Given the description of an element on the screen output the (x, y) to click on. 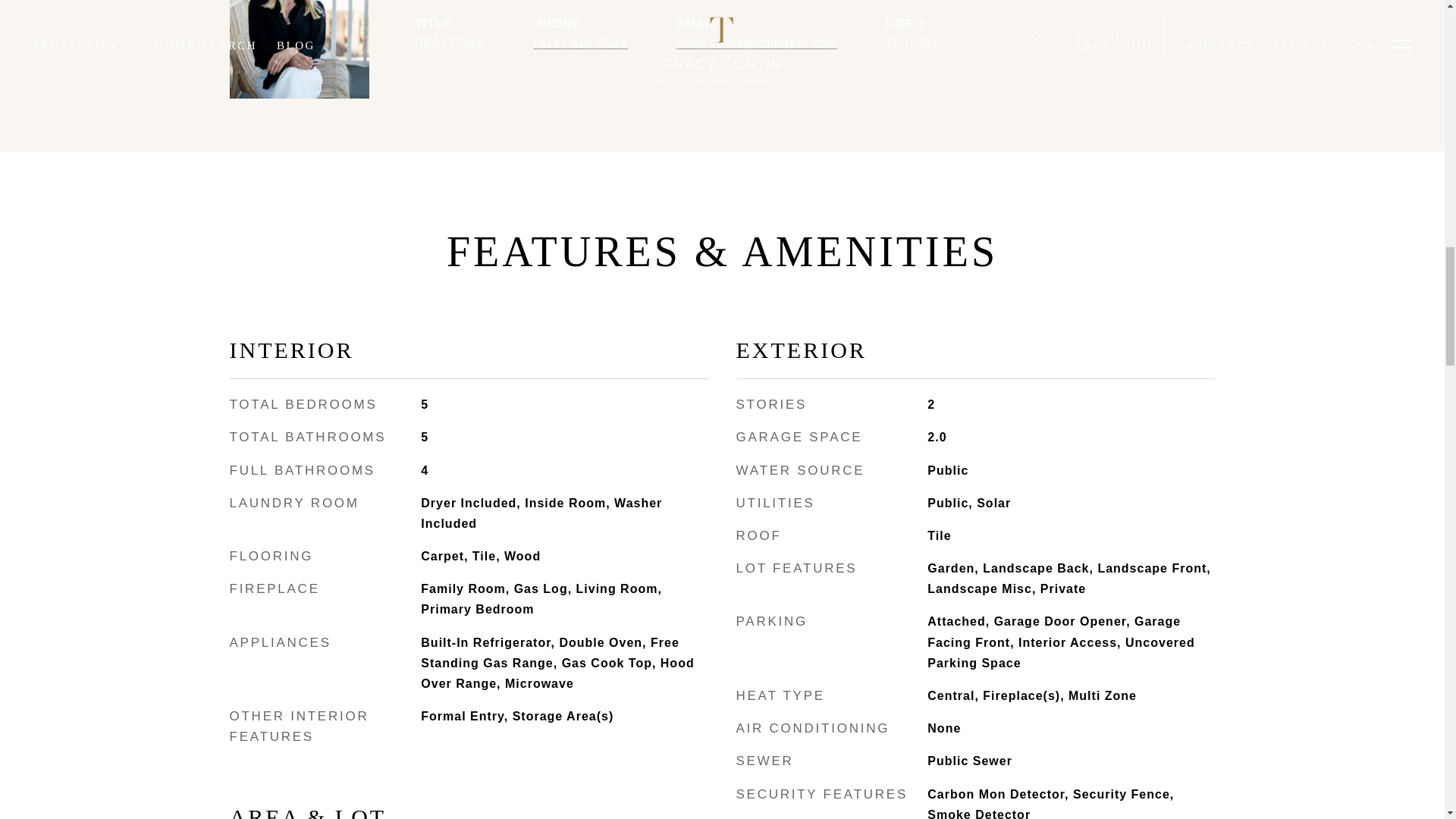
CONTACT AGENT (1075, 36)
